Given the description of an element on the screen output the (x, y) to click on. 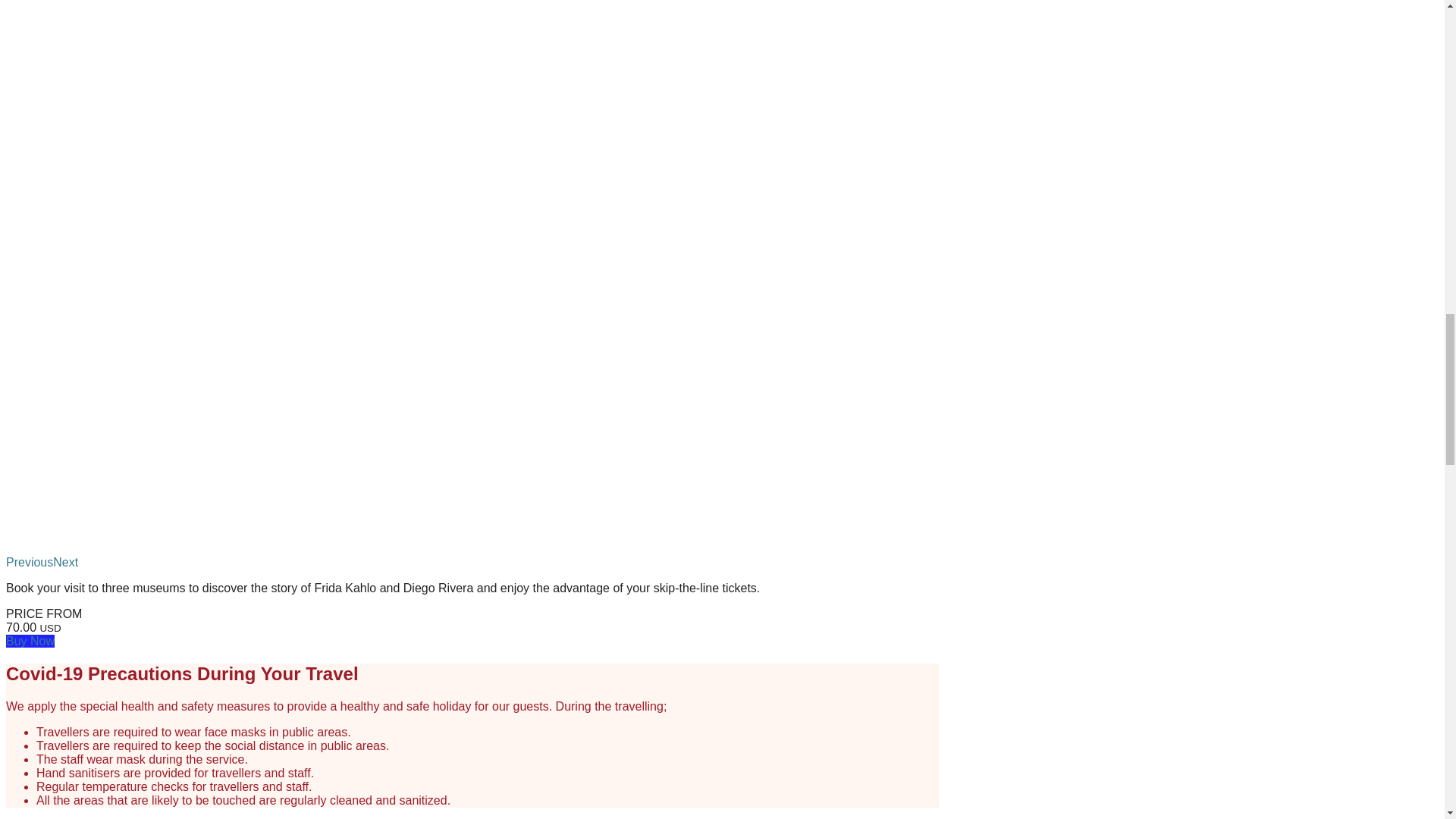
Buy Now (30, 640)
Next (65, 562)
Previous (28, 562)
